Given the description of an element on the screen output the (x, y) to click on. 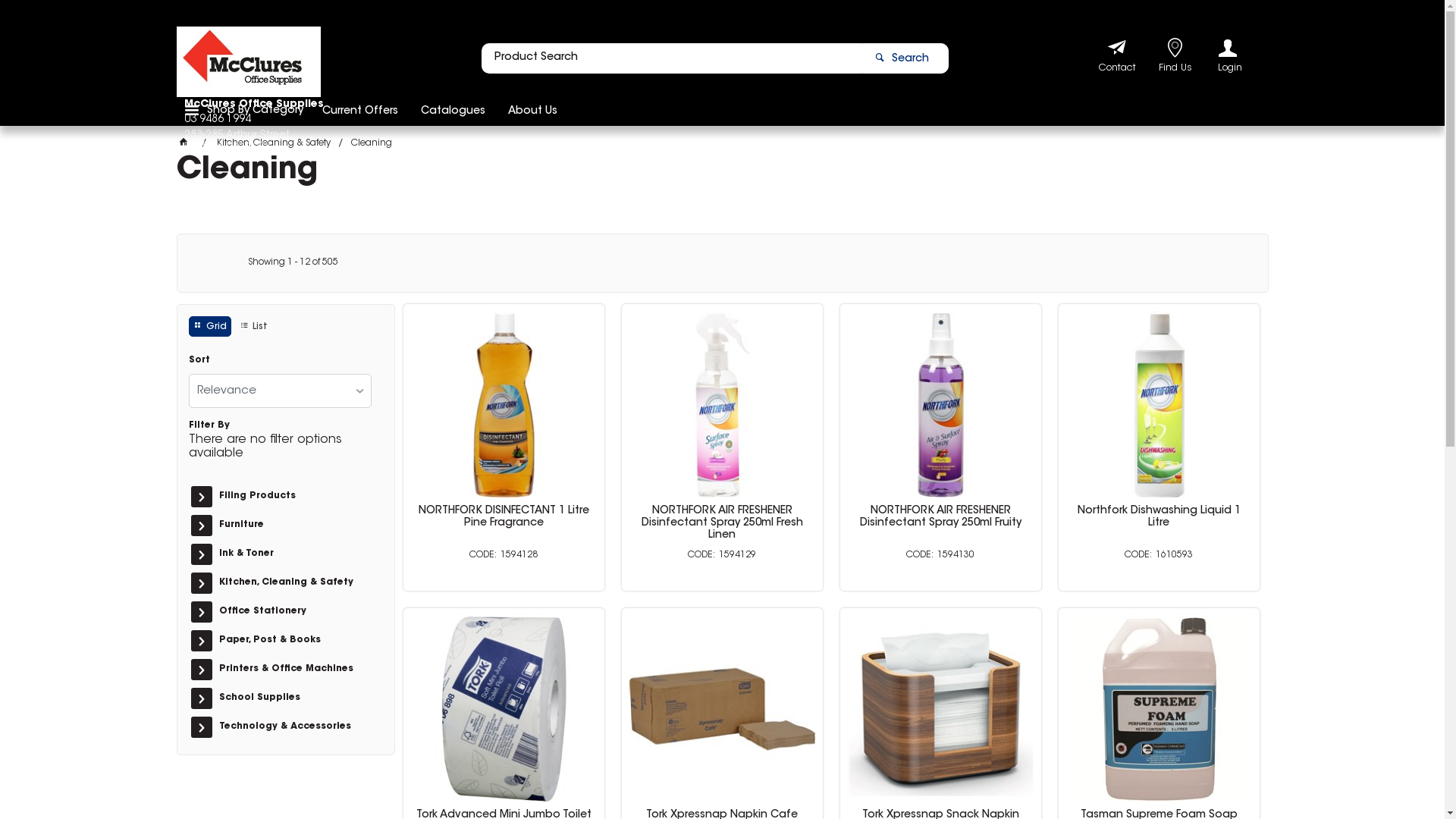
NORTHFORK AIR FRESHENER Disinfectant Spray 250ml Fruity Element type: text (940, 517)
School Supplies Element type: text (293, 698)
Current Offers Element type: text (359, 109)
About Us Element type: text (531, 109)
Paper, Post & Books Element type: text (293, 640)
Filing Products Element type: text (293, 496)
Printers & Office Machines Element type: text (293, 669)
Login Element type: text (1229, 55)
Kitchen, Cleaning & Safety Element type: text (273, 142)
NORTHFORK AIR FRESHENER Disinfectant Spray 250ml Fresh Linen Element type: text (722, 523)
Search Element type: text (904, 58)
Catalogues Element type: text (452, 109)
Find Us Element type: text (1175, 69)
Technology & Accessories Element type: text (293, 727)
Furniture Element type: text (293, 525)
NORTHFORK DISINFECTANT 1 Litre Pine Fragrance Element type: text (503, 517)
Northfork Dishwashing Liquid 1 Litre Element type: text (1159, 517)
Ink & Toner Element type: text (293, 554)
Kitchen, Cleaning & Safety Element type: text (293, 583)
03 9486 1994 Element type: text (237, 122)
Contact Element type: text (1116, 69)
Office Stationery Element type: text (293, 611)
